Given the description of an element on the screen output the (x, y) to click on. 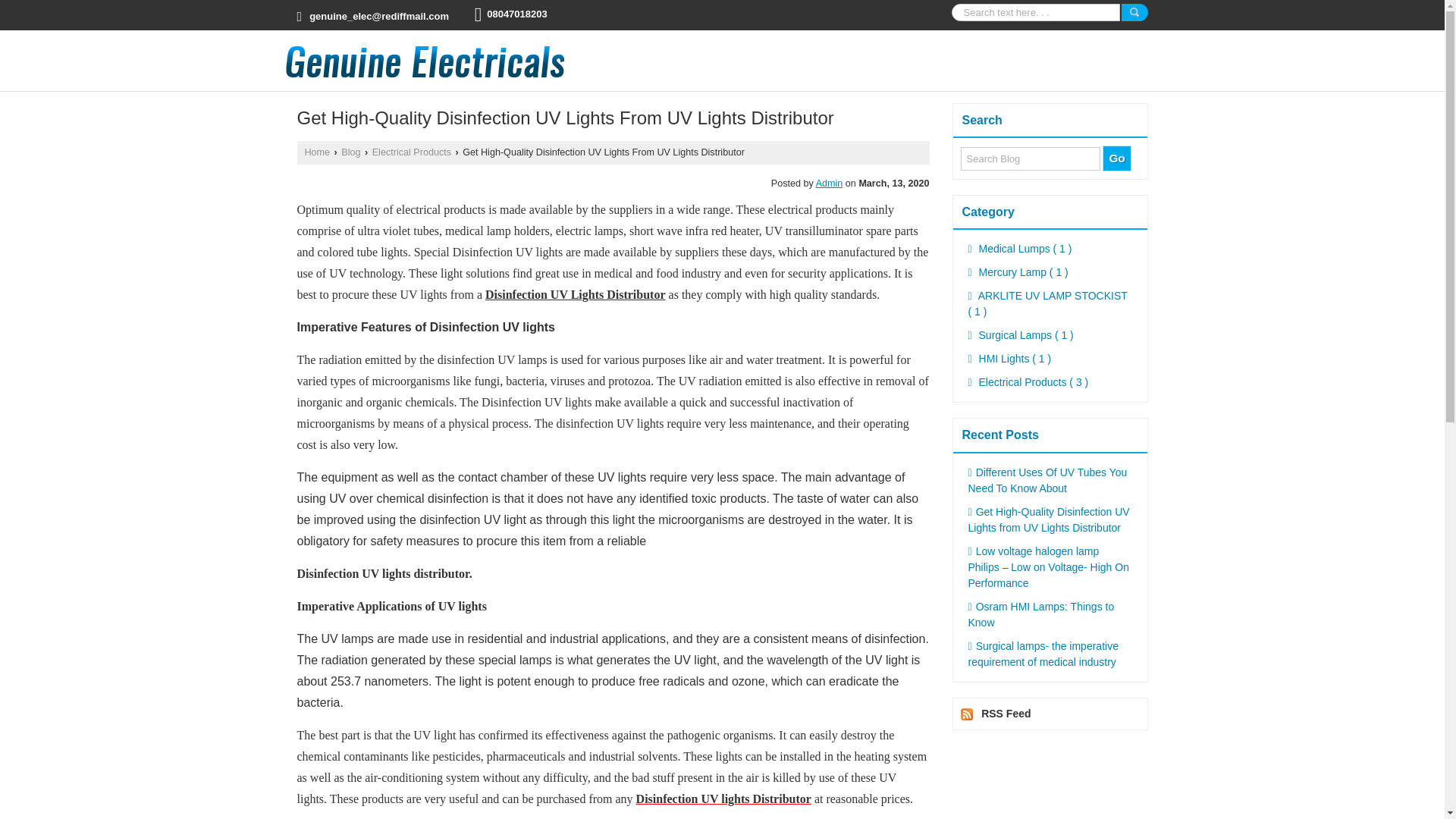
Genuine Electricals (424, 60)
Go (1116, 158)
Search text here. . . (1034, 12)
Genuine Electricals (424, 60)
